Given the description of an element on the screen output the (x, y) to click on. 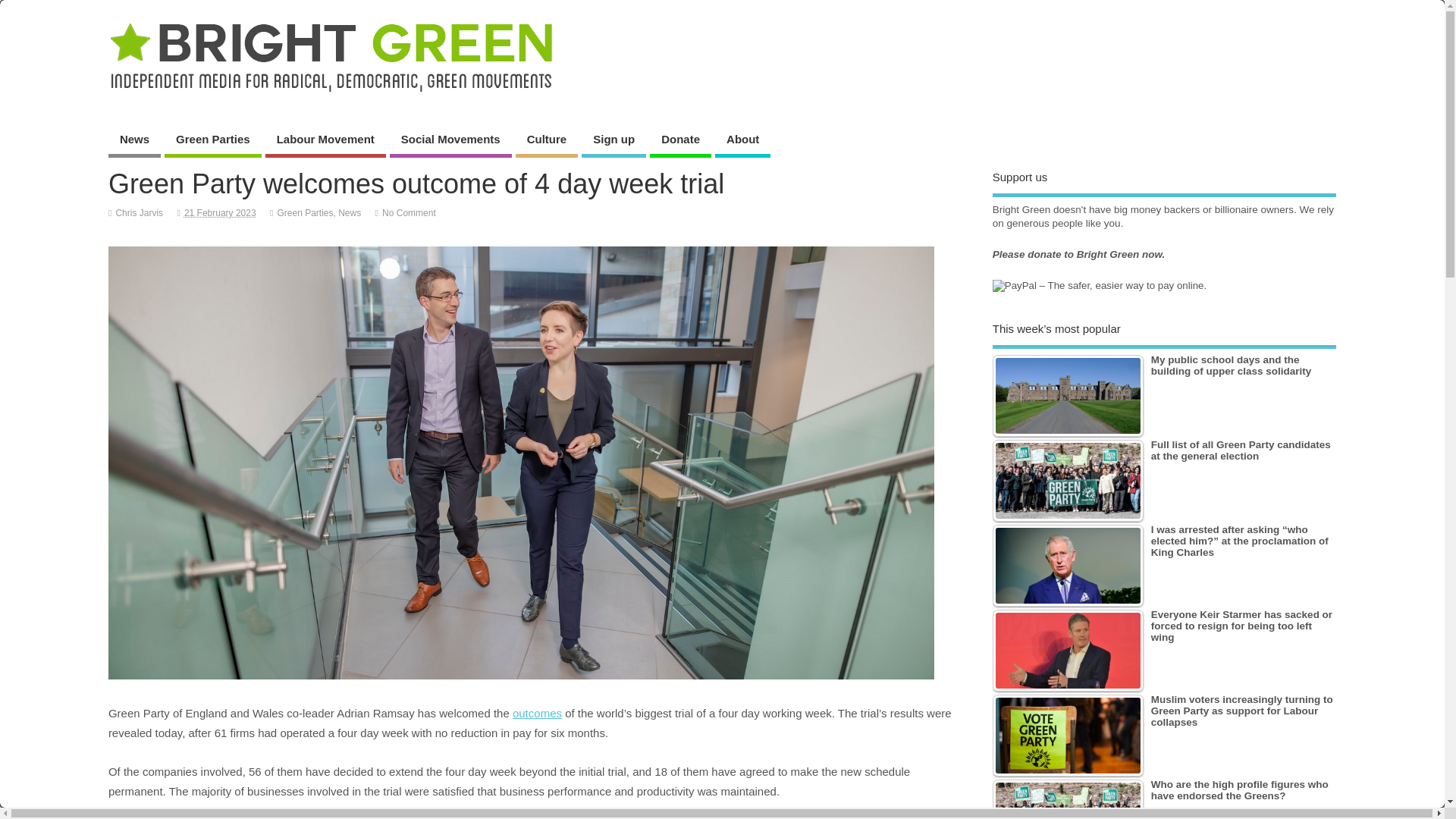
Green Parties (304, 213)
Social Movements (451, 141)
News (349, 213)
Labour Movement (324, 141)
Green Parties (213, 141)
Culture (546, 141)
Posts by Chris Jarvis (139, 213)
Chris Jarvis (139, 213)
outcomes (537, 712)
About (742, 141)
